Given the description of an element on the screen output the (x, y) to click on. 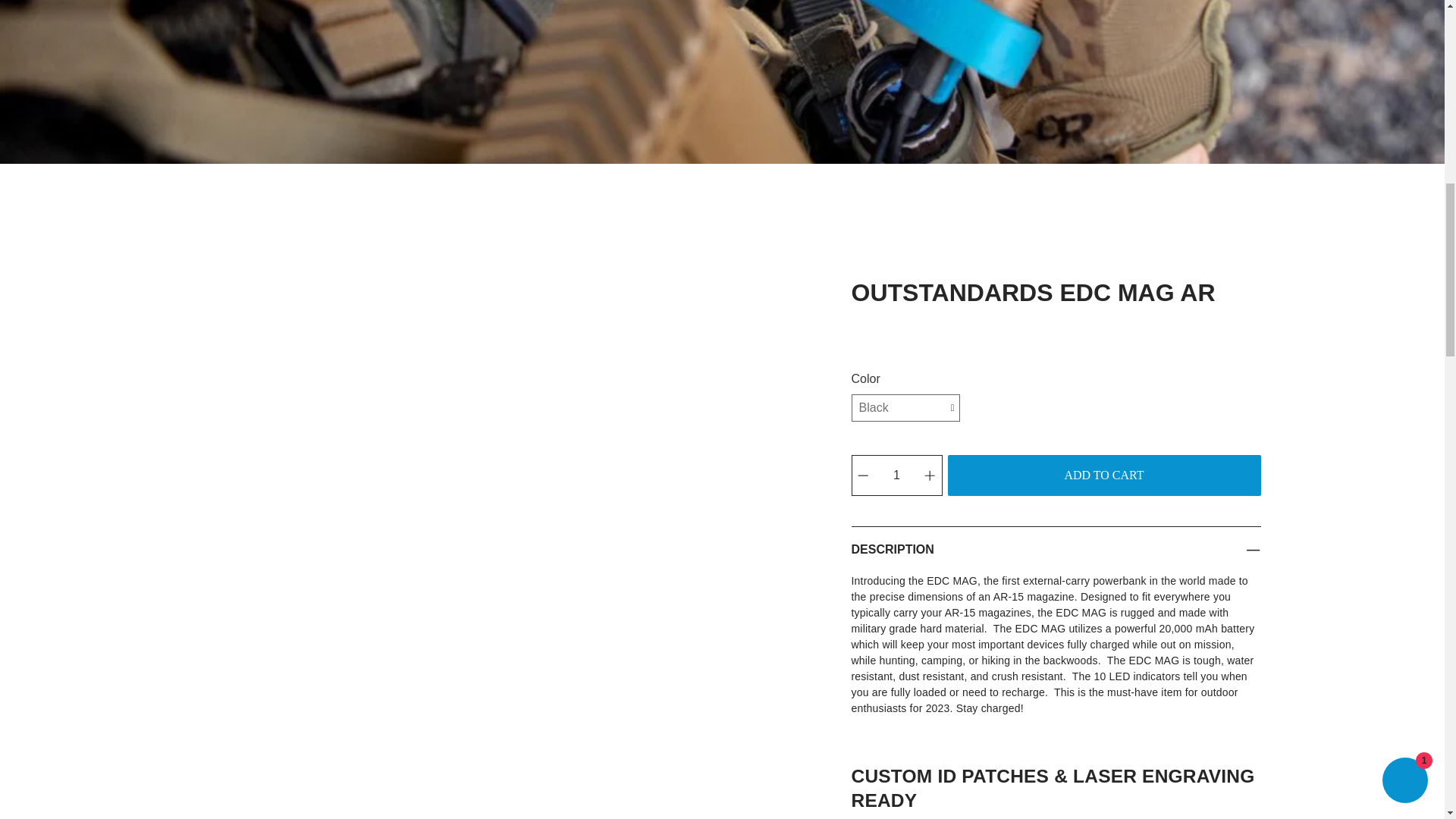
1 (896, 475)
